Given the description of an element on the screen output the (x, y) to click on. 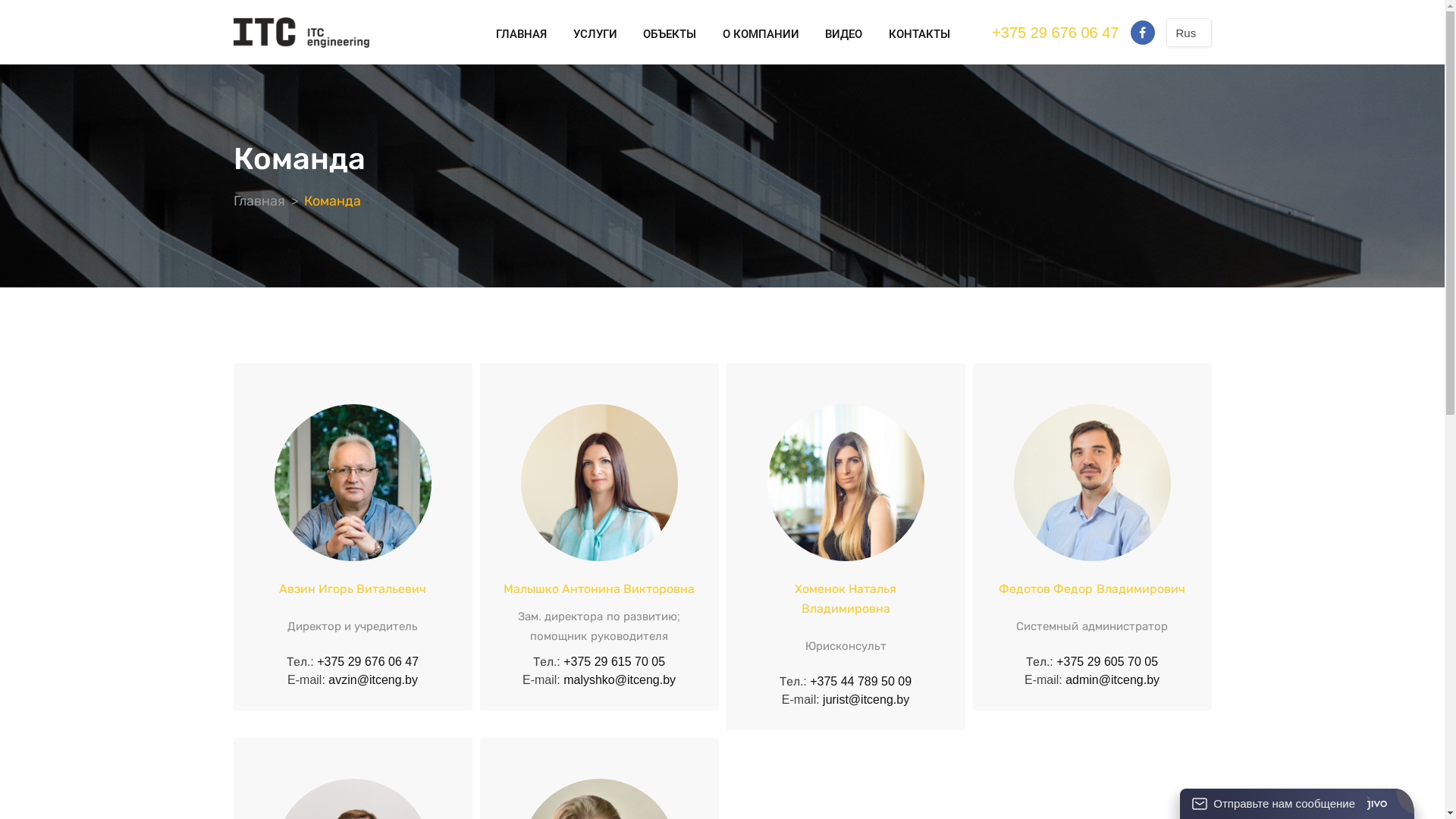
+375 29 676 06 47 Element type: text (367, 661)
admin@itceng.by Element type: text (1112, 679)
jurist@itceng.by Element type: text (865, 699)
+375 29 615 70 05 Element type: text (614, 661)
avzin@itceng.by Element type: text (372, 679)
malyshko@itceng.by Element type: text (619, 679)
+375 44 789 50 09 Element type: text (860, 680)
+375 29 676 06 47 Element type: text (1054, 32)
+375 29 605 70 05 Element type: text (1106, 661)
